Given the description of an element on the screen output the (x, y) to click on. 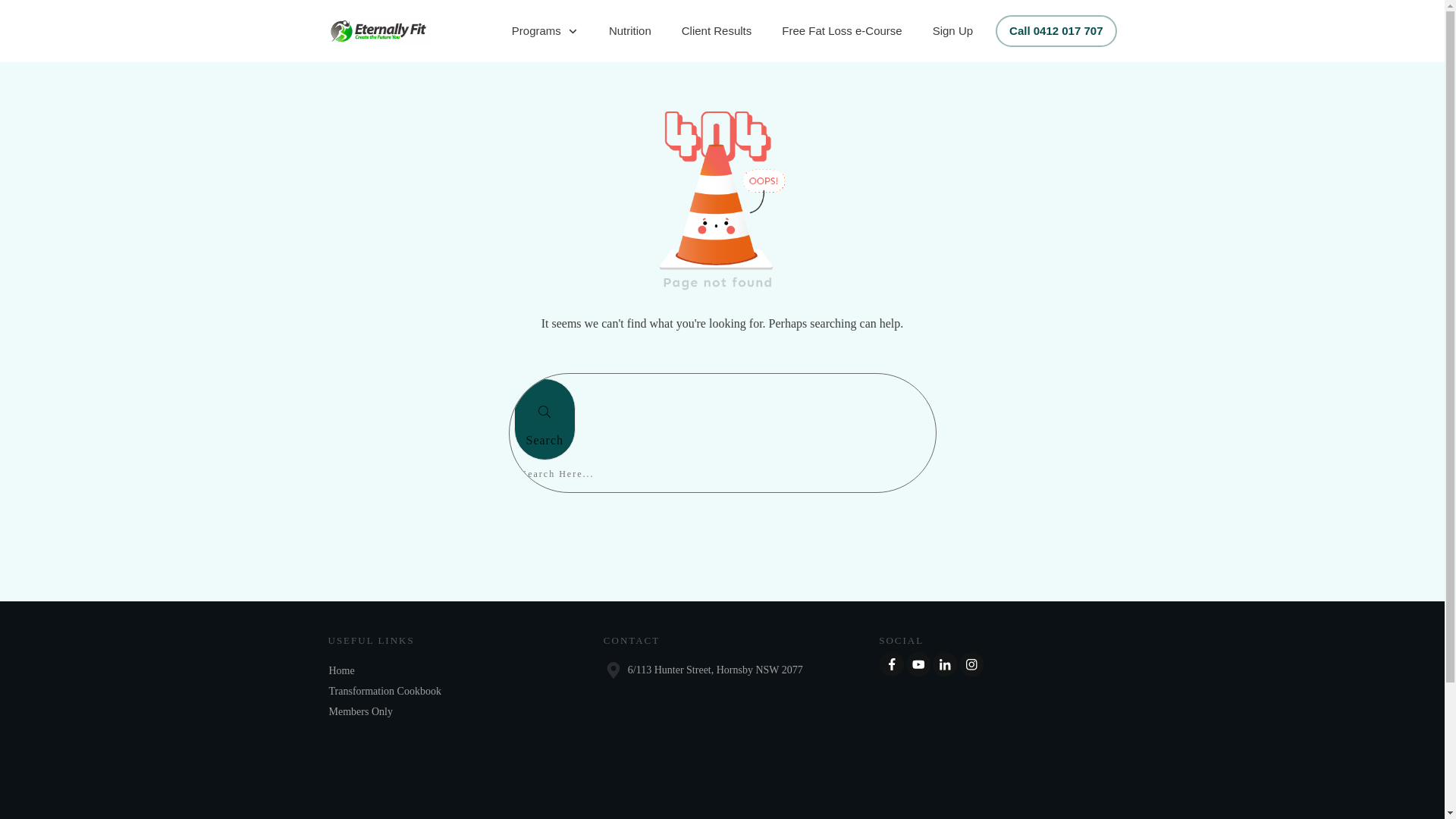
Search Element type: text (545, 419)
Call 0412 017 707 Element type: text (1055, 30)
Sign Up Element type: text (952, 30)
Members Only Element type: text (360, 711)
Programs Element type: text (544, 30)
Free Fat Loss e-Course Element type: text (841, 30)
Client Results Element type: text (716, 30)
Nutrition Element type: text (629, 30)
Transformation Cookbook Element type: text (385, 690)
404 img alpha-8 (1) Element type: hover (722, 195)
Home Element type: text (341, 670)
